Given the description of an element on the screen output the (x, y) to click on. 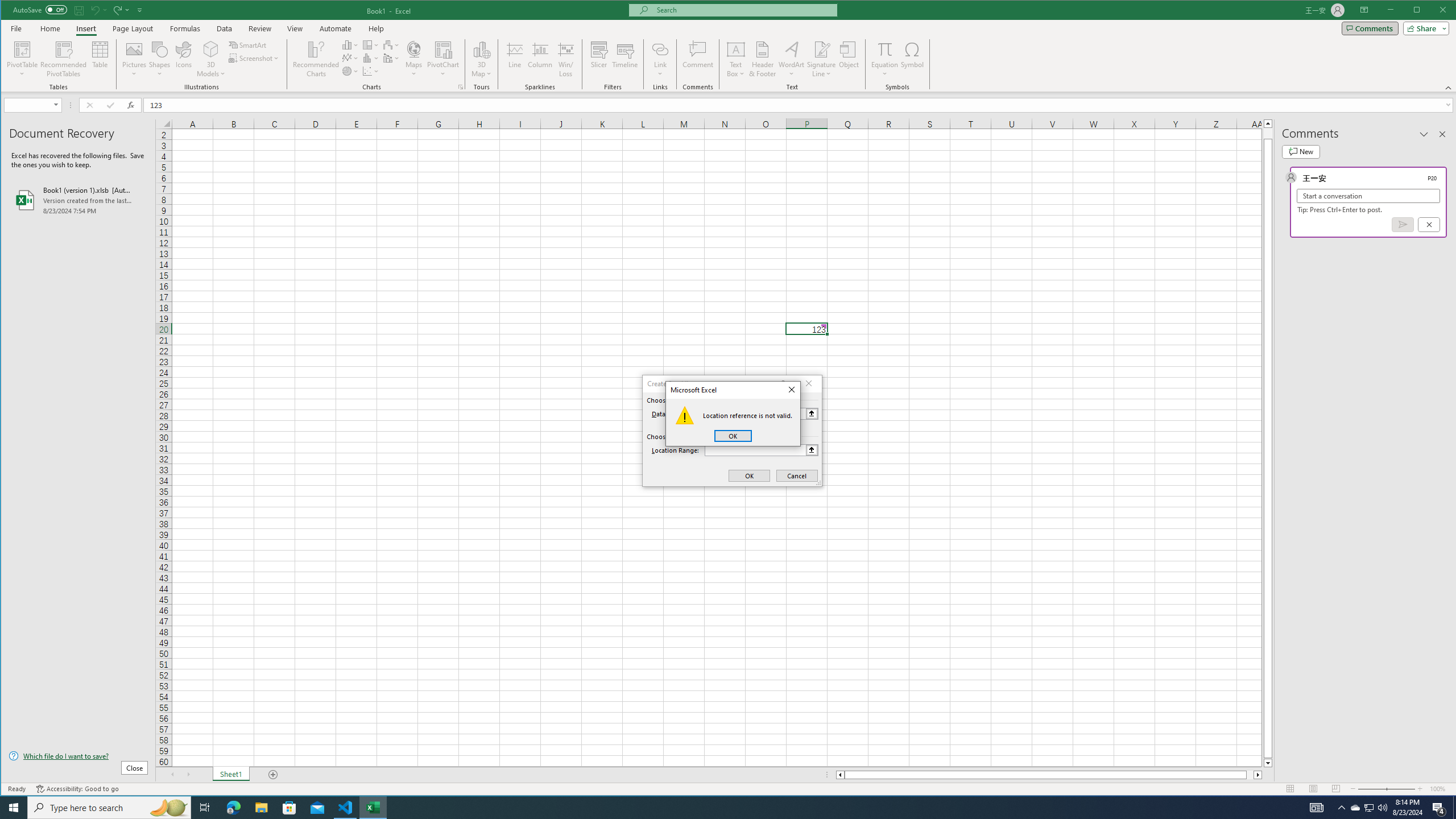
Excel - 1 running window (373, 807)
Cancel (797, 475)
AutomationID: 4105 (1316, 807)
Running applications (717, 807)
